Given the description of an element on the screen output the (x, y) to click on. 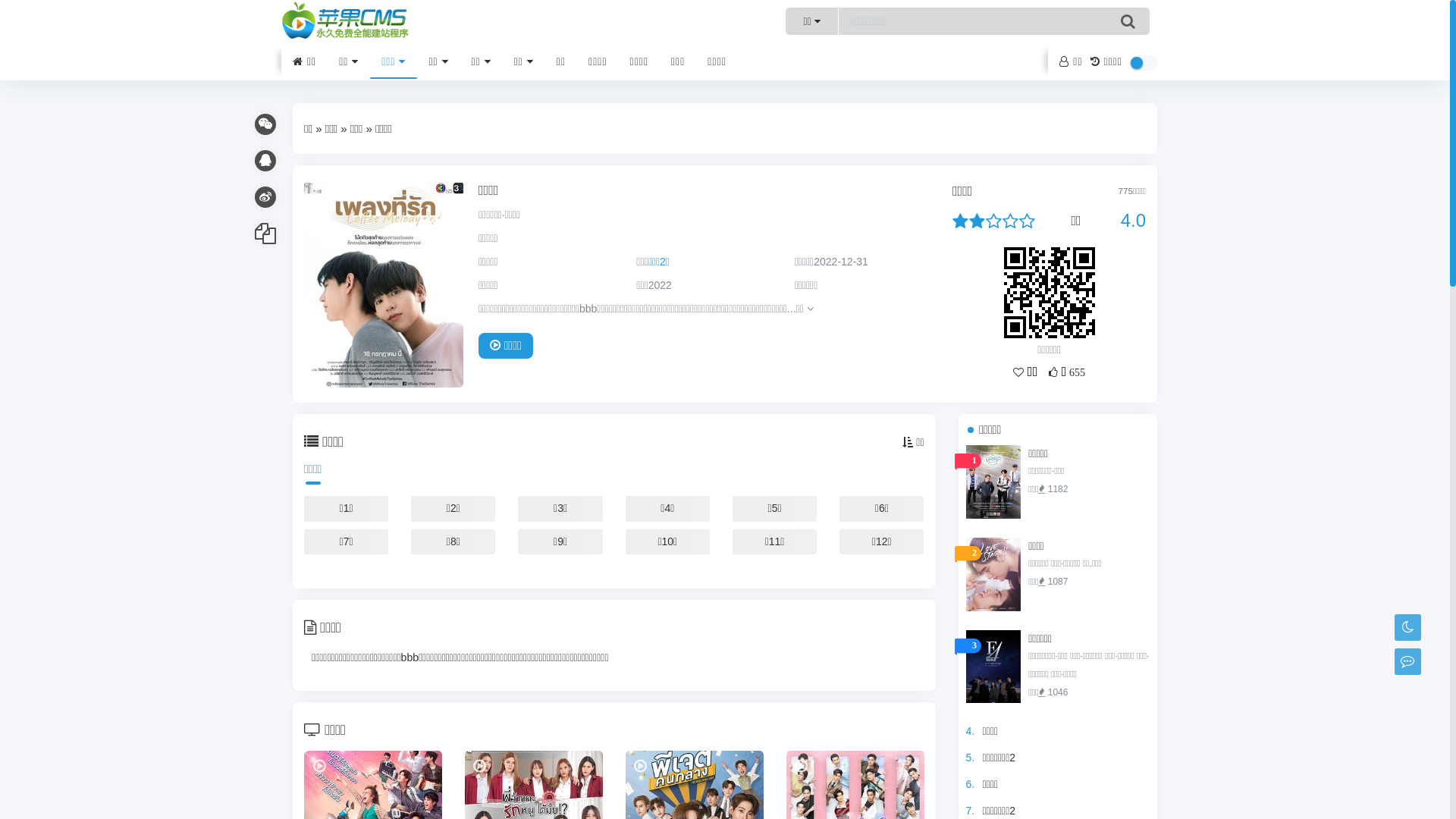
2022 Element type: text (659, 285)
on Element type: text (1143, 62)
